Given the description of an element on the screen output the (x, y) to click on. 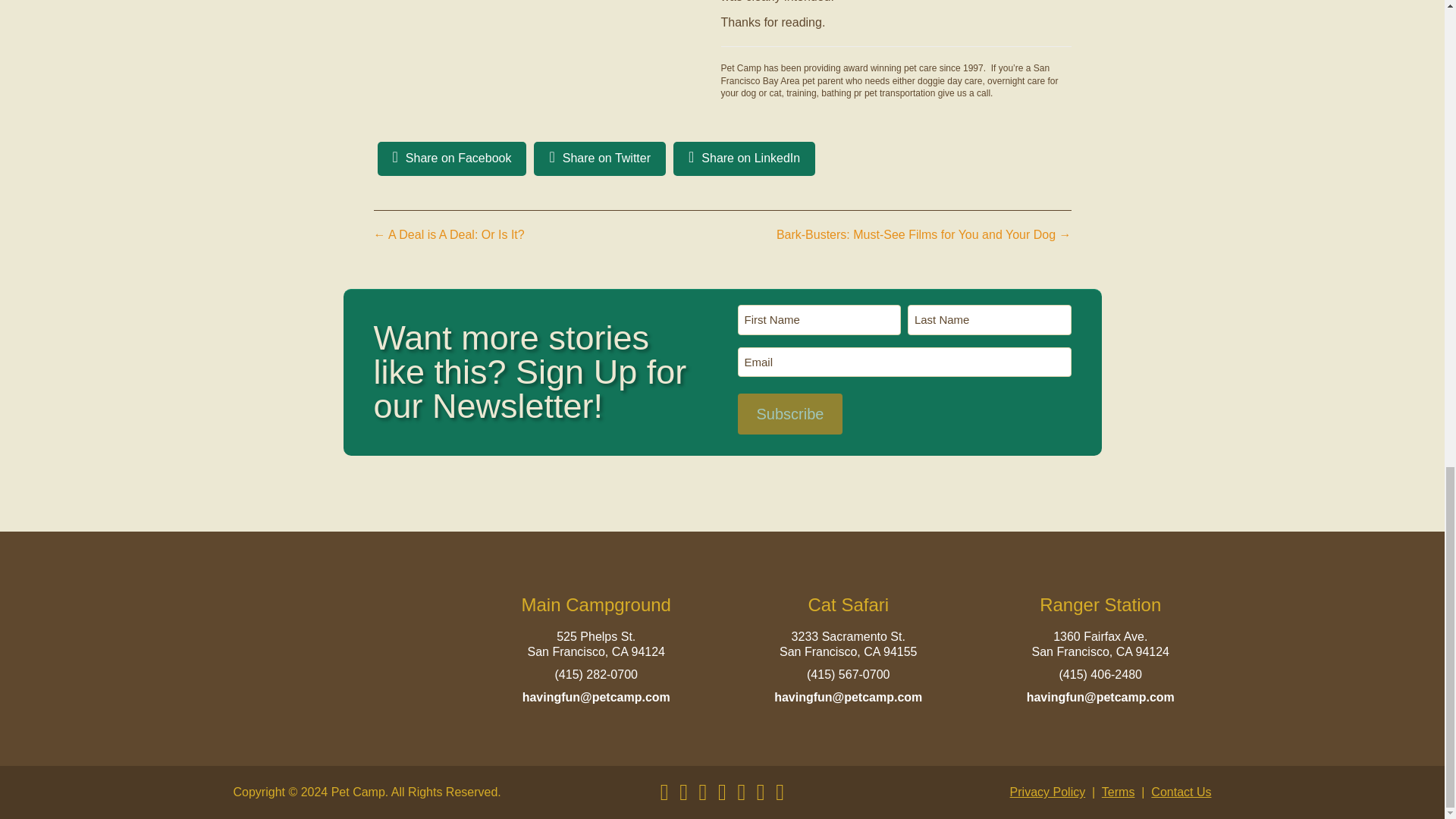
footer-logo (343, 652)
Subscribe (789, 413)
Main Campground (596, 604)
Cat Safari (848, 604)
Ranger Station (1099, 604)
